Given the description of an element on the screen output the (x, y) to click on. 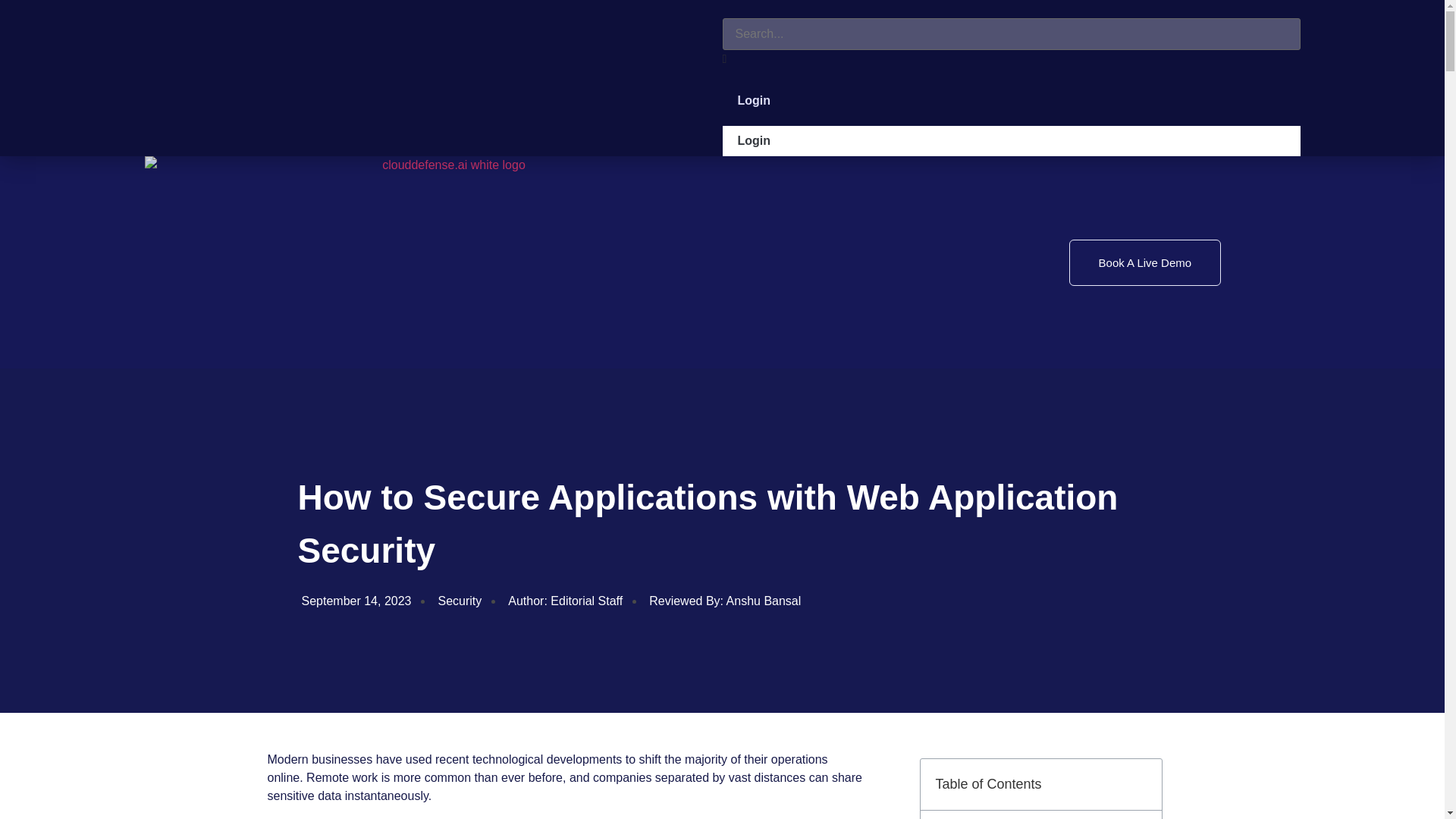
Login (1011, 141)
Login (754, 100)
